Given the description of an element on the screen output the (x, y) to click on. 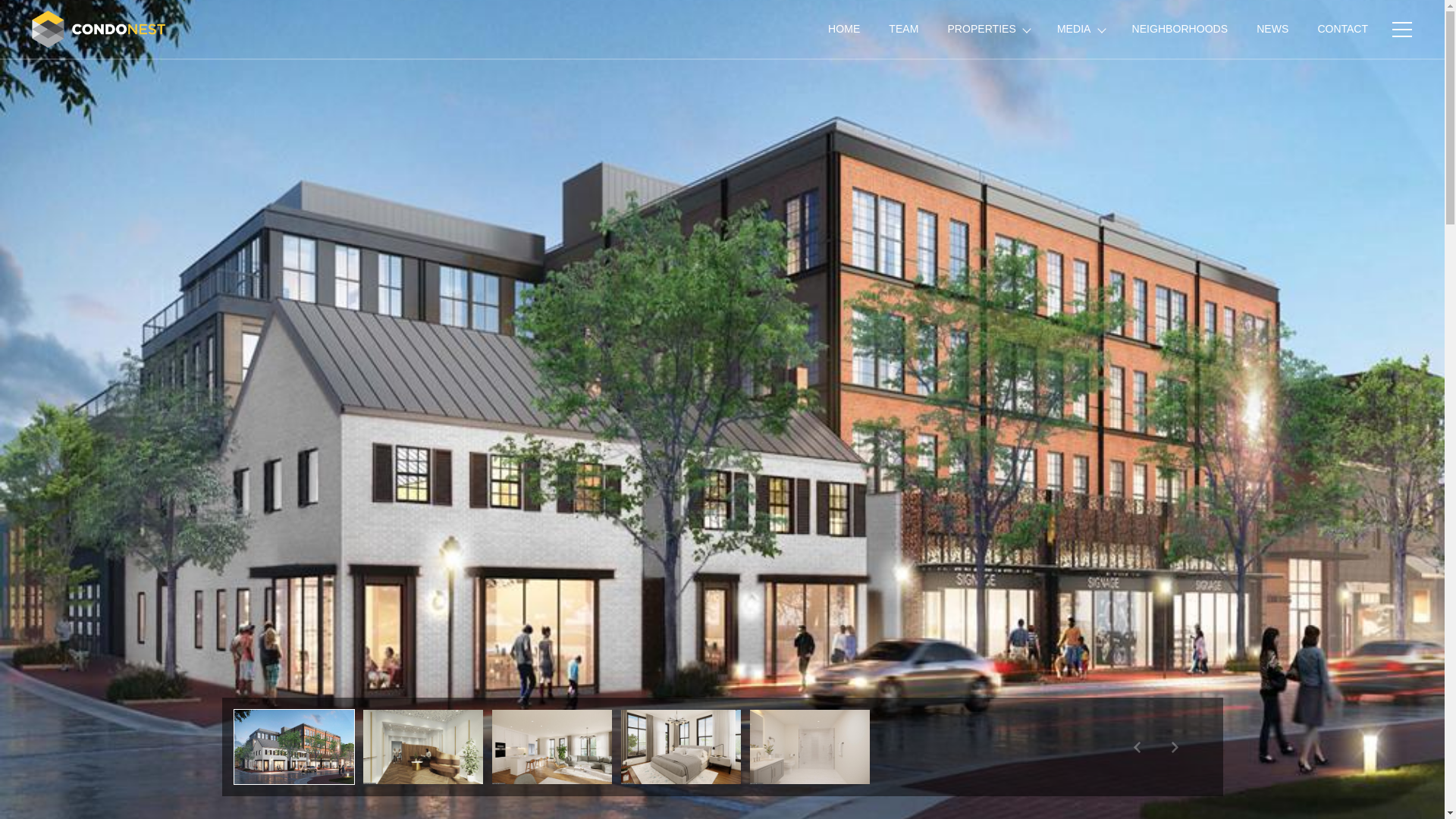
NEIGHBORHOODS (1180, 29)
NEWS (1272, 29)
CONTACT (1342, 29)
HOME (844, 29)
MEDIA (1080, 29)
TEAM (904, 29)
PROPERTIES (987, 29)
